Given the description of an element on the screen output the (x, y) to click on. 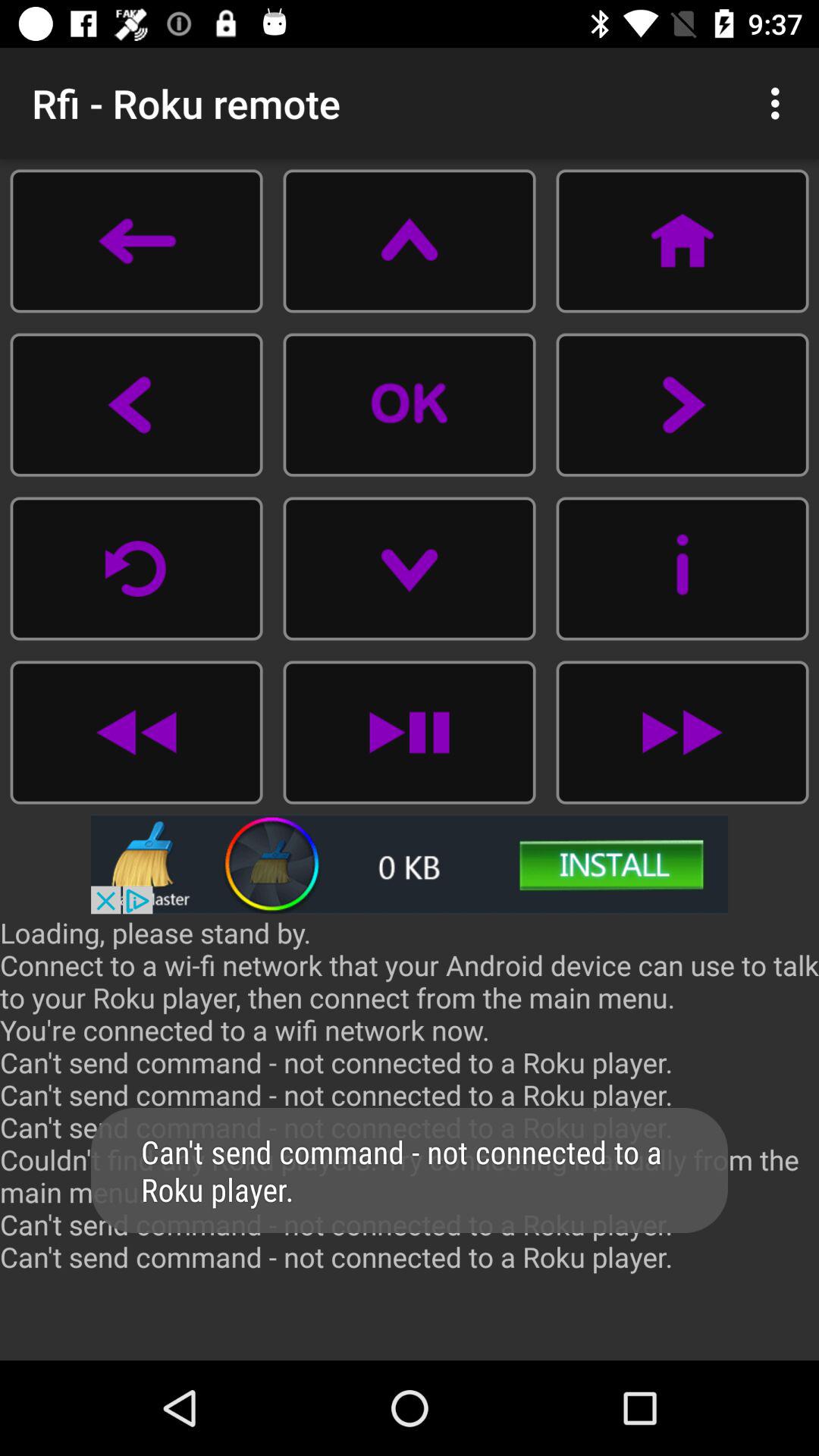
go back (136, 240)
